Given the description of an element on the screen output the (x, y) to click on. 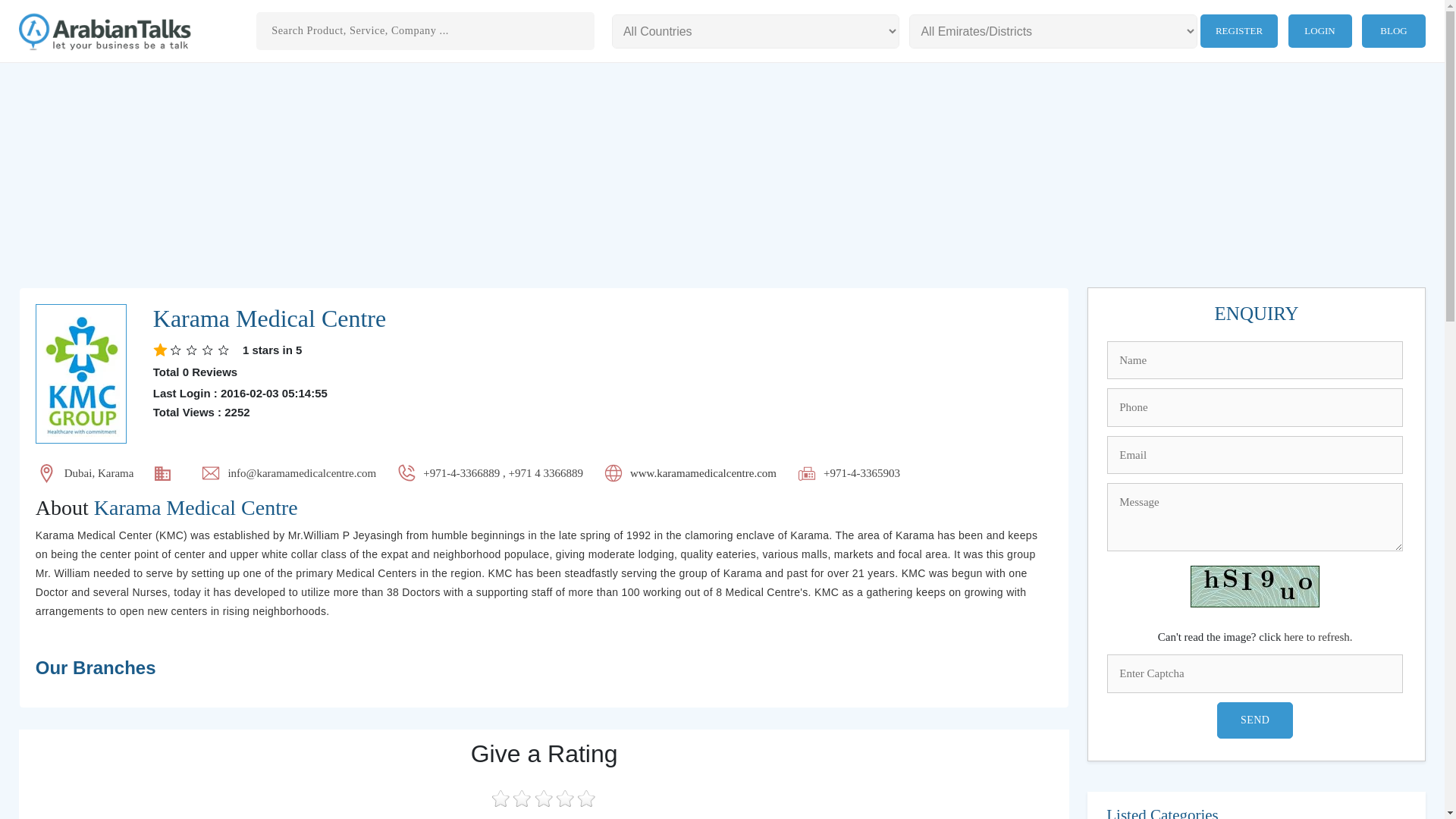
Karama Medical Centre (543, 668)
 UAE Business Blog (1393, 30)
Karama Medical Centre ,Dubai ,Karama (268, 317)
www.karamamedicalcentre.com (703, 472)
Website of Karama Medical Centre (703, 473)
SEND (1254, 719)
Phone of Karama Medical Centre (503, 473)
Fax of Karama Medical Centre (861, 473)
REGISTER (1238, 30)
LOGIN (1320, 30)
BLOG (1393, 30)
Register in Qatar business Directory (1238, 30)
Sent enquiry to Karama Medical Centre (1256, 313)
login to UAE Business directory (1320, 30)
